Given the description of an element on the screen output the (x, y) to click on. 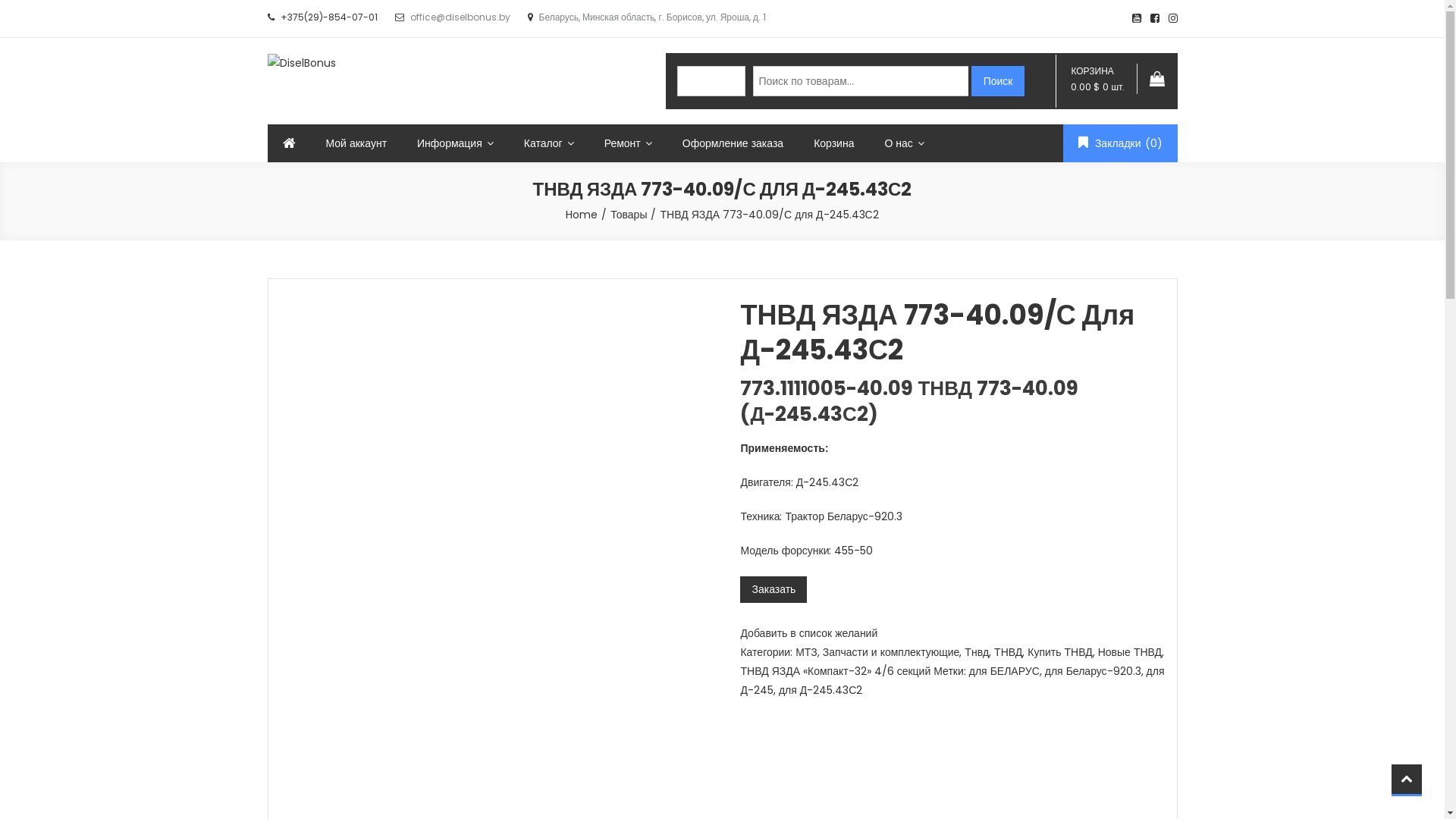
Home Element type: text (581, 214)
DiselBonus Element type: text (294, 81)
+375(29)-854-07-01 Element type: text (328, 16)
Skip to content Element type: text (0, 0)
